Given the description of an element on the screen output the (x, y) to click on. 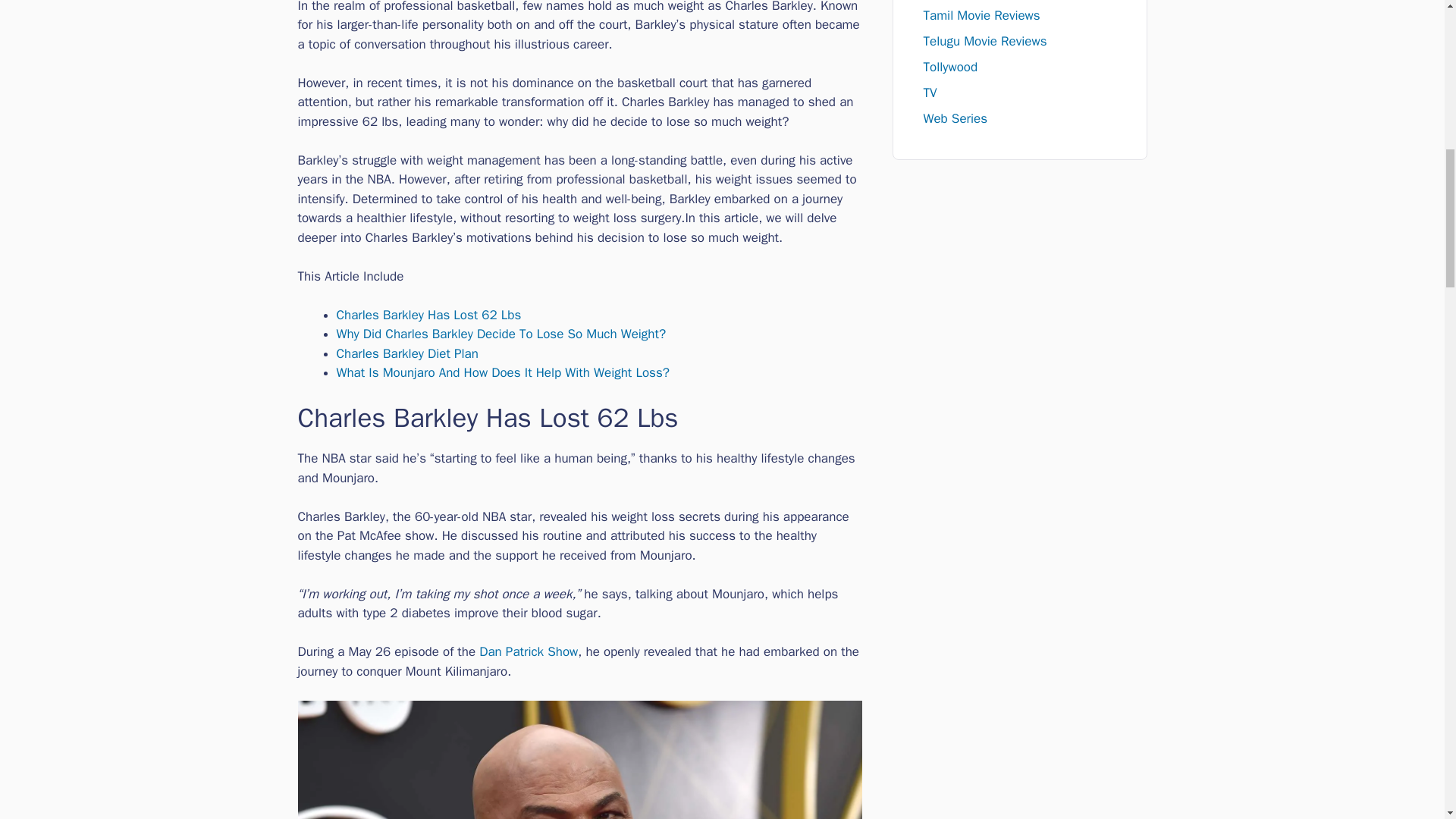
Charles Barkley Has Lost 62 Lbs (428, 314)
What Is Mounjaro And How Does It Help With Weight Loss? (502, 372)
Why Did Charles Barkley Decide To Lose So Much Weight? (501, 333)
Dan Patrick Show (528, 651)
Charles Barkley Diet Plan (407, 353)
